Given the description of an element on the screen output the (x, y) to click on. 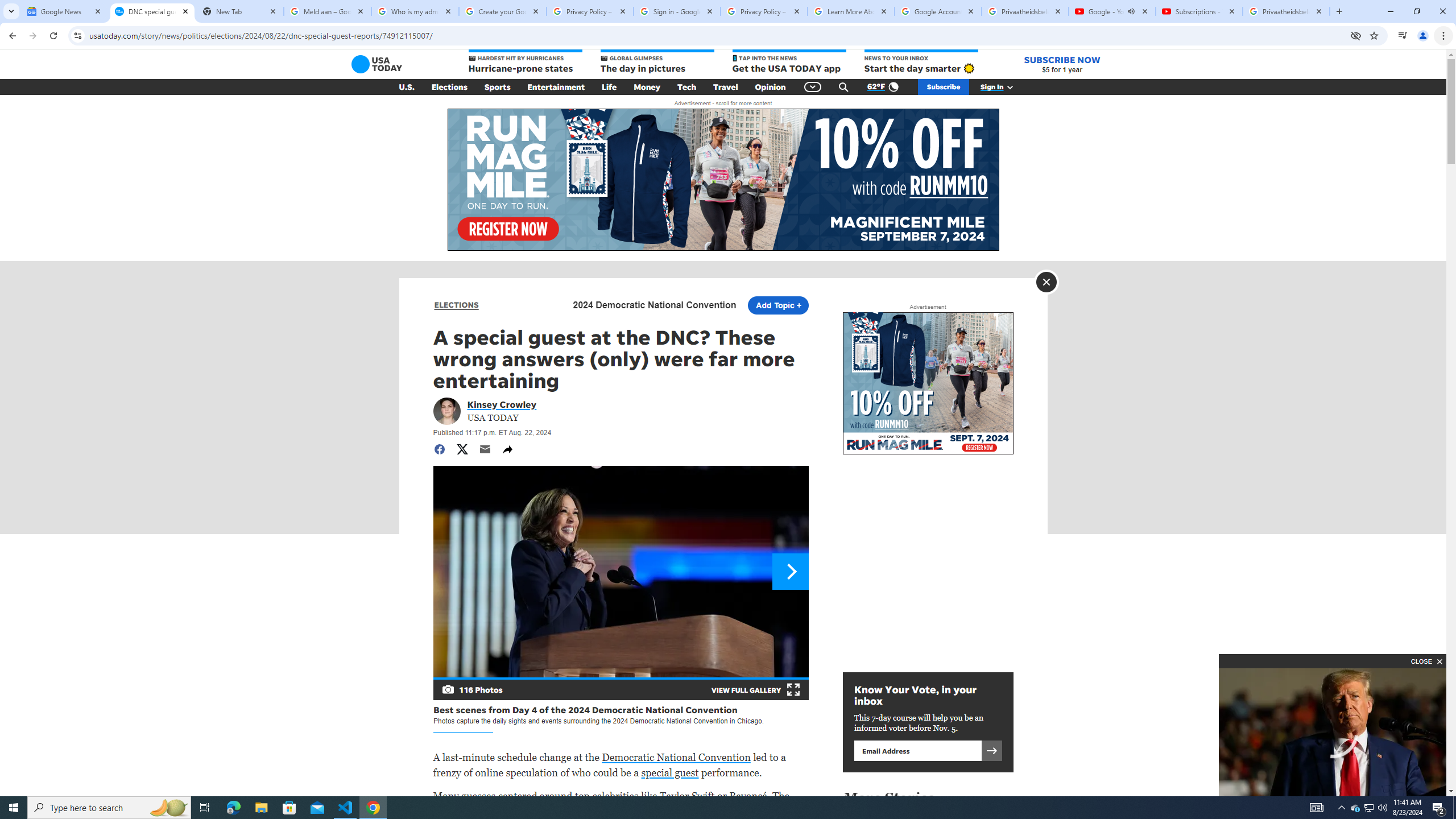
Close autoplay video player (1425, 661)
Control your music, videos, and more (1402, 35)
Create your Google Account (502, 11)
Share natively (506, 449)
Restore (1416, 11)
Life (609, 87)
New Tab (239, 11)
Sports (497, 87)
